Given the description of an element on the screen output the (x, y) to click on. 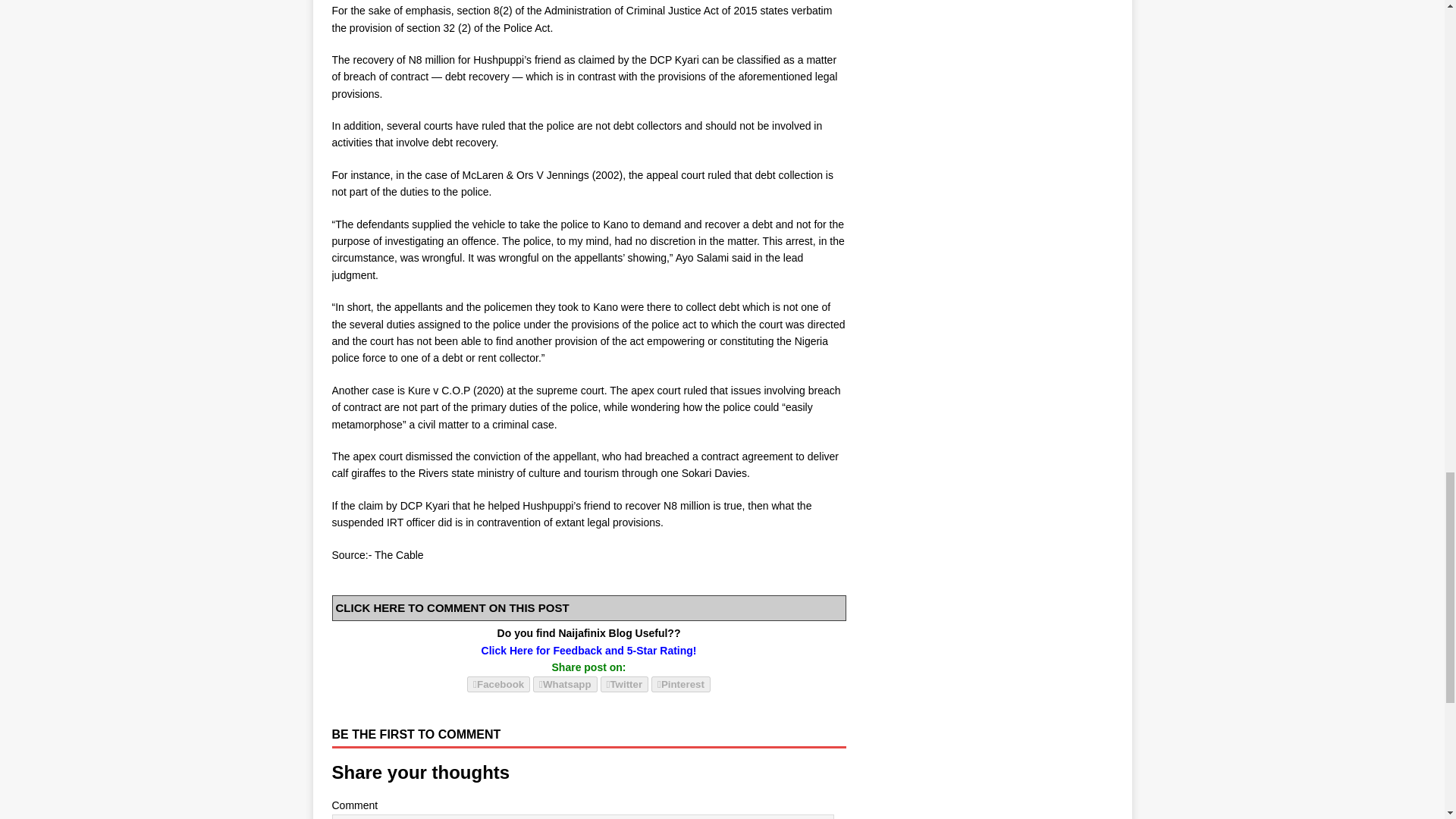
Click Here for Feedback and 5-Star Rating! (589, 650)
Facebook (498, 684)
Whatsapp (564, 684)
Pinterest (680, 684)
Twitter (624, 684)
Facebook (498, 684)
CLICK HERE TO COMMENT ON THIS POST (451, 607)
Pinterest (680, 684)
Whatsapp (564, 684)
Twitter (624, 684)
